Given the description of an element on the screen output the (x, y) to click on. 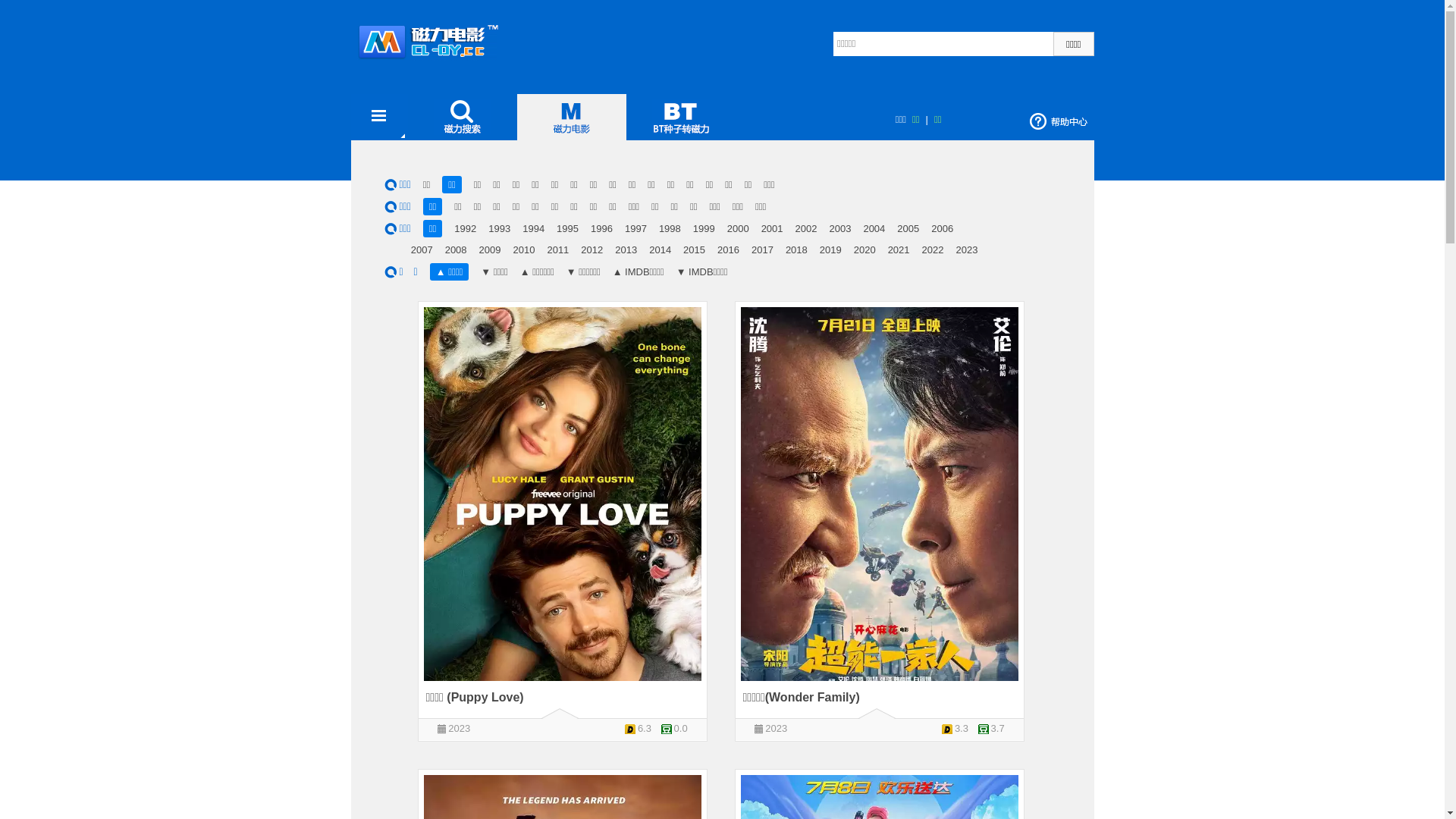
2023 Element type: text (966, 249)
2002 Element type: text (806, 228)
2007 Element type: text (422, 249)
1999 Element type: text (704, 228)
1994 Element type: text (533, 228)
2000 Element type: text (738, 228)
2022 Element type: text (933, 249)
2003 Element type: text (839, 228)
2010 Element type: text (523, 249)
2019 Element type: text (830, 249)
2009 Element type: text (490, 249)
2011 Element type: text (557, 249)
2021 Element type: text (899, 249)
2023 Element type: text (459, 728)
2001 Element type: text (772, 228)
2005 Element type: text (908, 228)
2017 Element type: text (762, 249)
1992 Element type: text (465, 228)
2016 Element type: text (728, 249)
1993 Element type: text (499, 228)
1997 Element type: text (635, 228)
2018 Element type: text (796, 249)
2006 Element type: text (942, 228)
2014 Element type: text (660, 249)
2023 Element type: text (776, 728)
1996 Element type: text (601, 228)
2012 Element type: text (591, 249)
2004 Element type: text (873, 228)
2020 Element type: text (864, 249)
1998 Element type: text (669, 228)
2008 Element type: text (456, 249)
2015 Element type: text (694, 249)
1995 Element type: text (567, 228)
2013 Element type: text (626, 249)
